Given the description of an element on the screen output the (x, y) to click on. 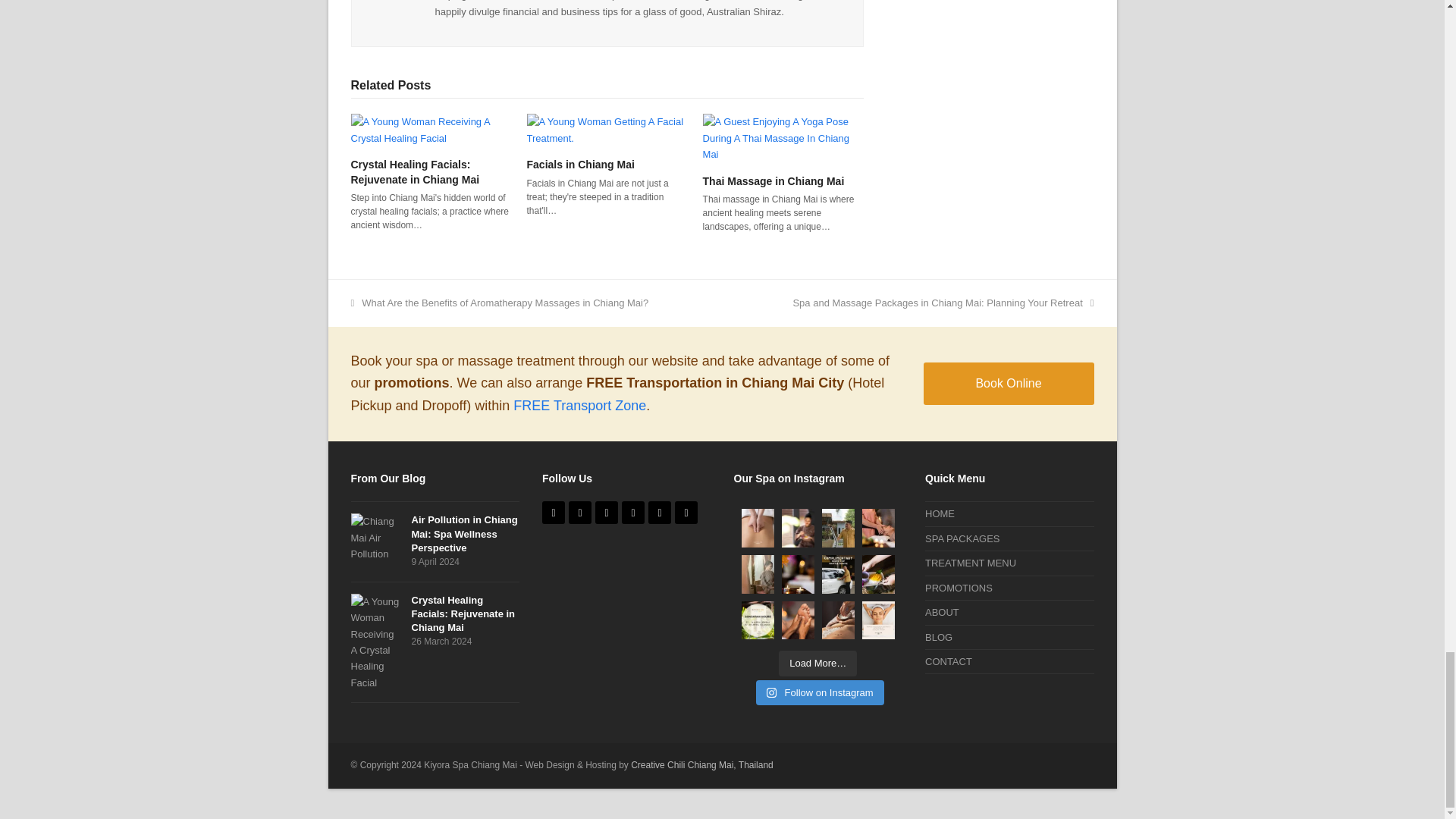
Crystal Healing Facials: Rejuvenate in Chiang Mai (430, 129)
Thai Massage in Chiang Mai (783, 137)
Facials in Chiang Mai (607, 129)
